Given the description of an element on the screen output the (x, y) to click on. 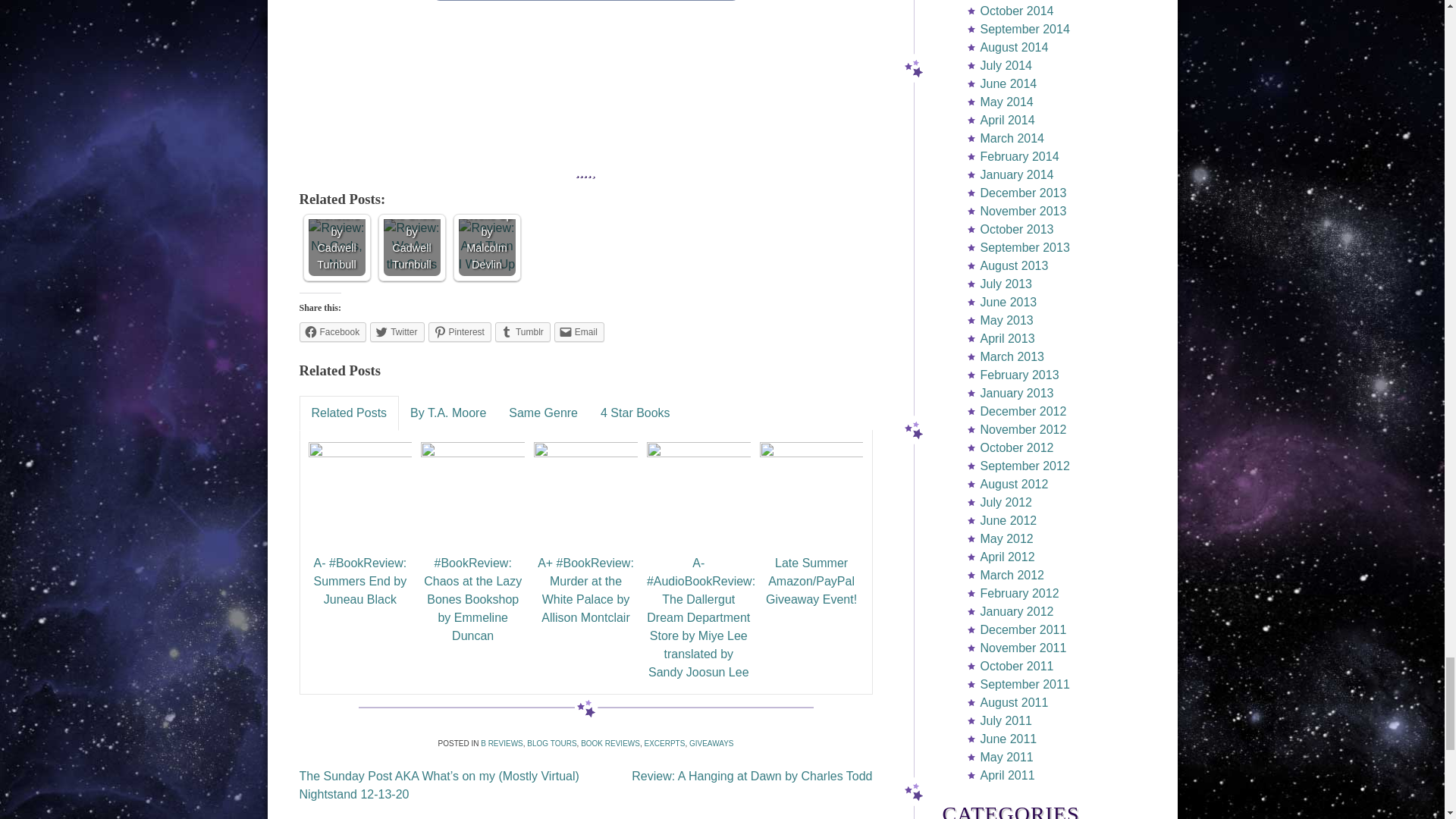
Related Posts (348, 412)
Tumblr (522, 332)
Click to share on Pinterest (460, 332)
Click to email a link to a friend (579, 332)
Click to share on Twitter (396, 332)
Pinterest (460, 332)
By T.A. Moore (447, 412)
Review: And Then I Woke Up by Malcolm Devlin (486, 247)
Click to share on Tumblr (522, 332)
4 Star Books (635, 412)
Twitter (396, 332)
Email (579, 332)
Click to share on Facebook (332, 332)
Review: We Are the Crisis by Cadwell Turnbull (412, 247)
Facebook (332, 332)
